Given the description of an element on the screen output the (x, y) to click on. 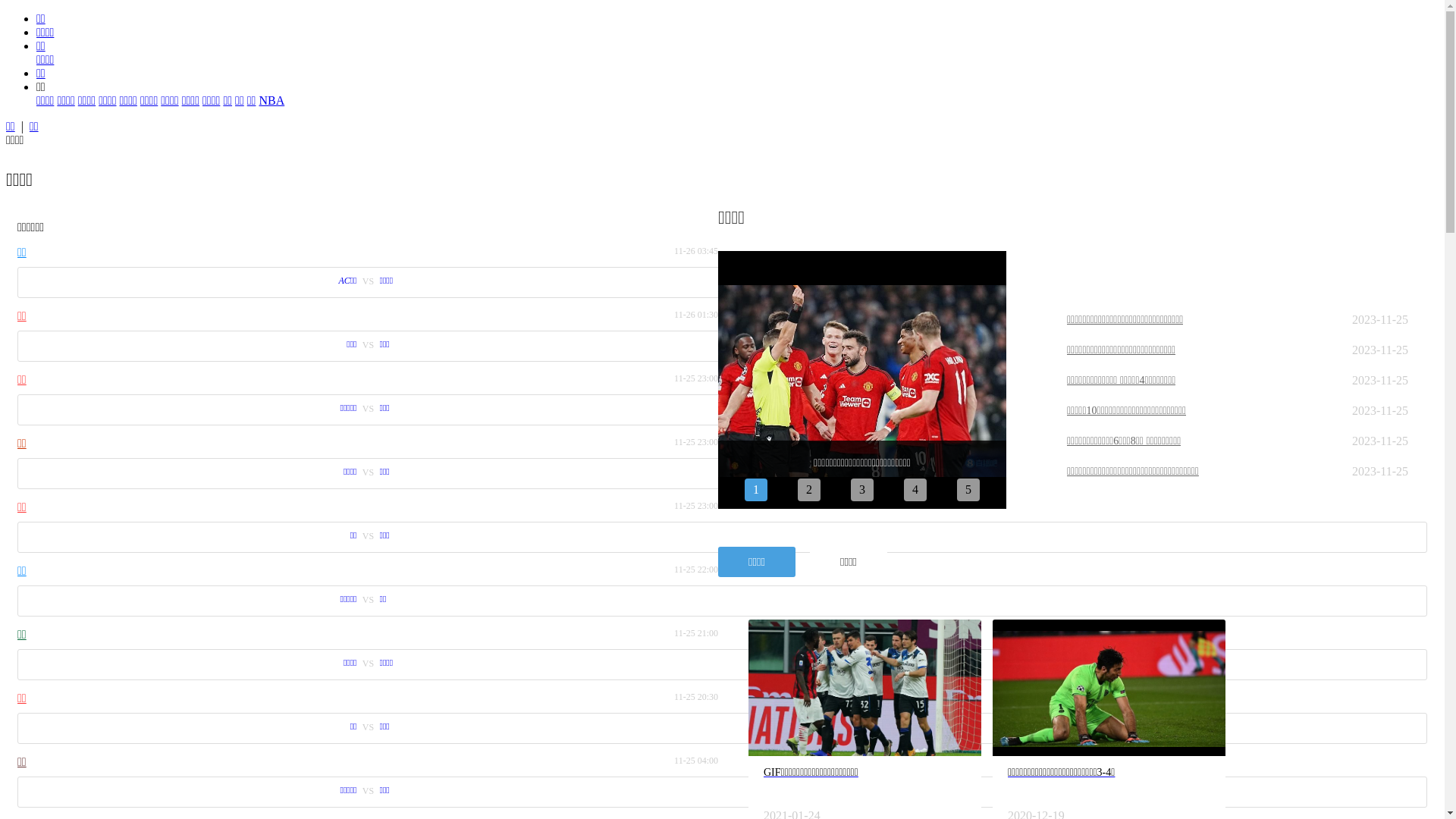
NBA Element type: text (271, 100)
